Given the description of an element on the screen output the (x, y) to click on. 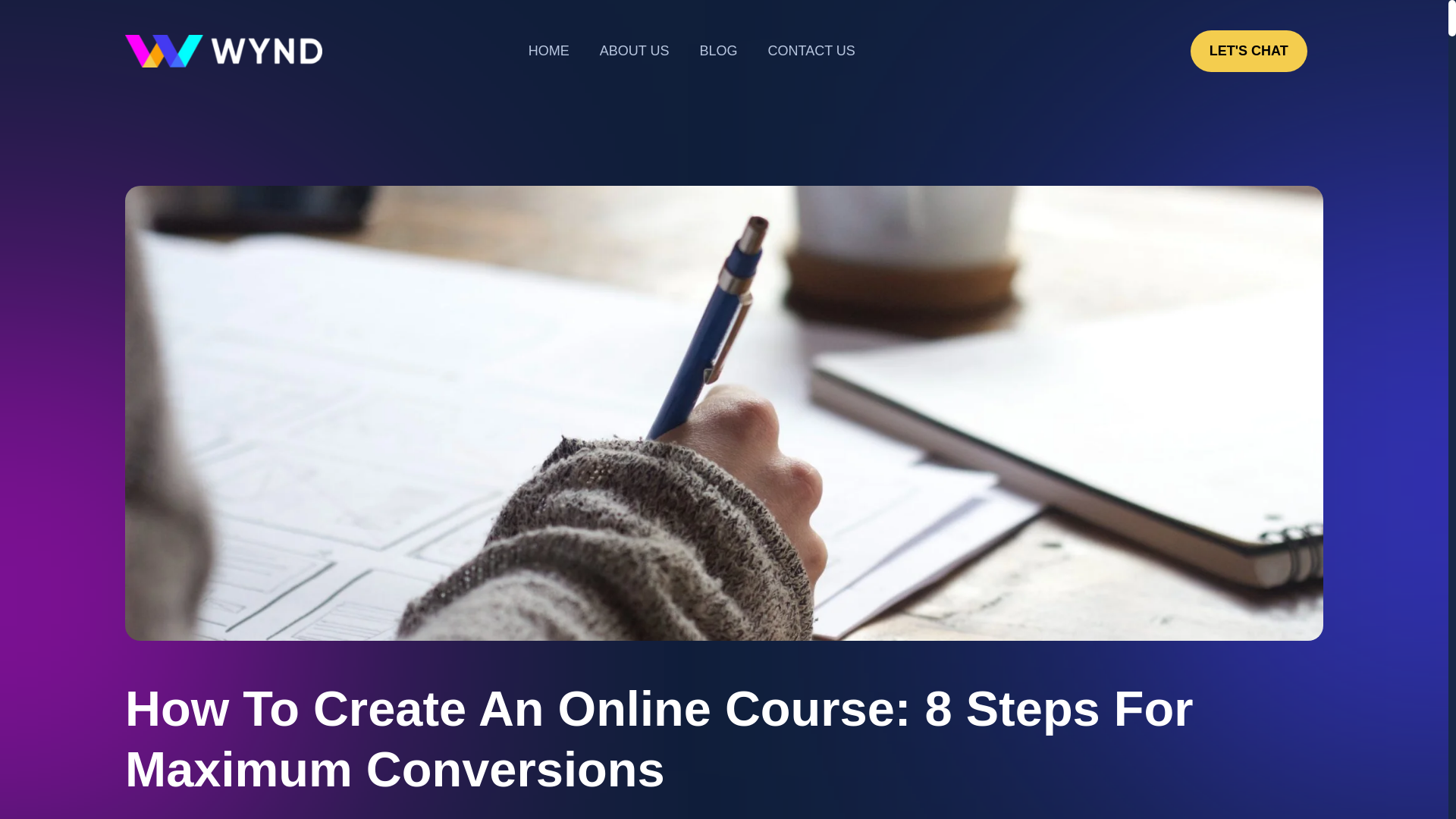
ABOUT US (634, 51)
LET'S CHAT (1249, 51)
HOME (549, 51)
BLOG (718, 51)
CONTACT US (810, 51)
